Given the description of an element on the screen output the (x, y) to click on. 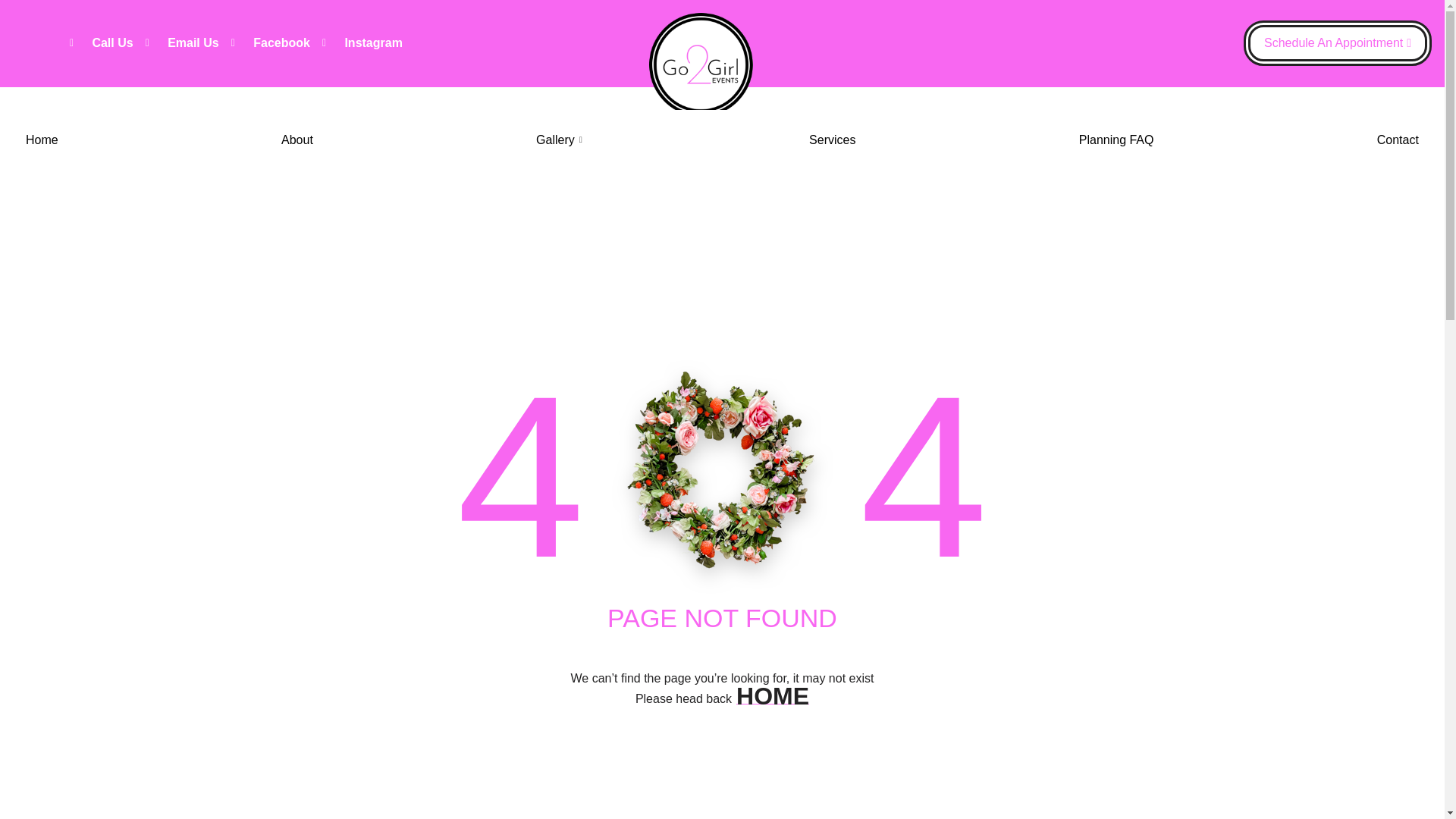
Schedule An Appointment (1337, 43)
Instagram (362, 43)
Contact (1397, 139)
Facebook (270, 43)
Services (831, 139)
Gallery (560, 139)
Home (41, 139)
Call Us (101, 43)
About (296, 139)
Planning FAQ (1116, 139)
HOME (772, 696)
Email Us (182, 43)
